Given the description of an element on the screen output the (x, y) to click on. 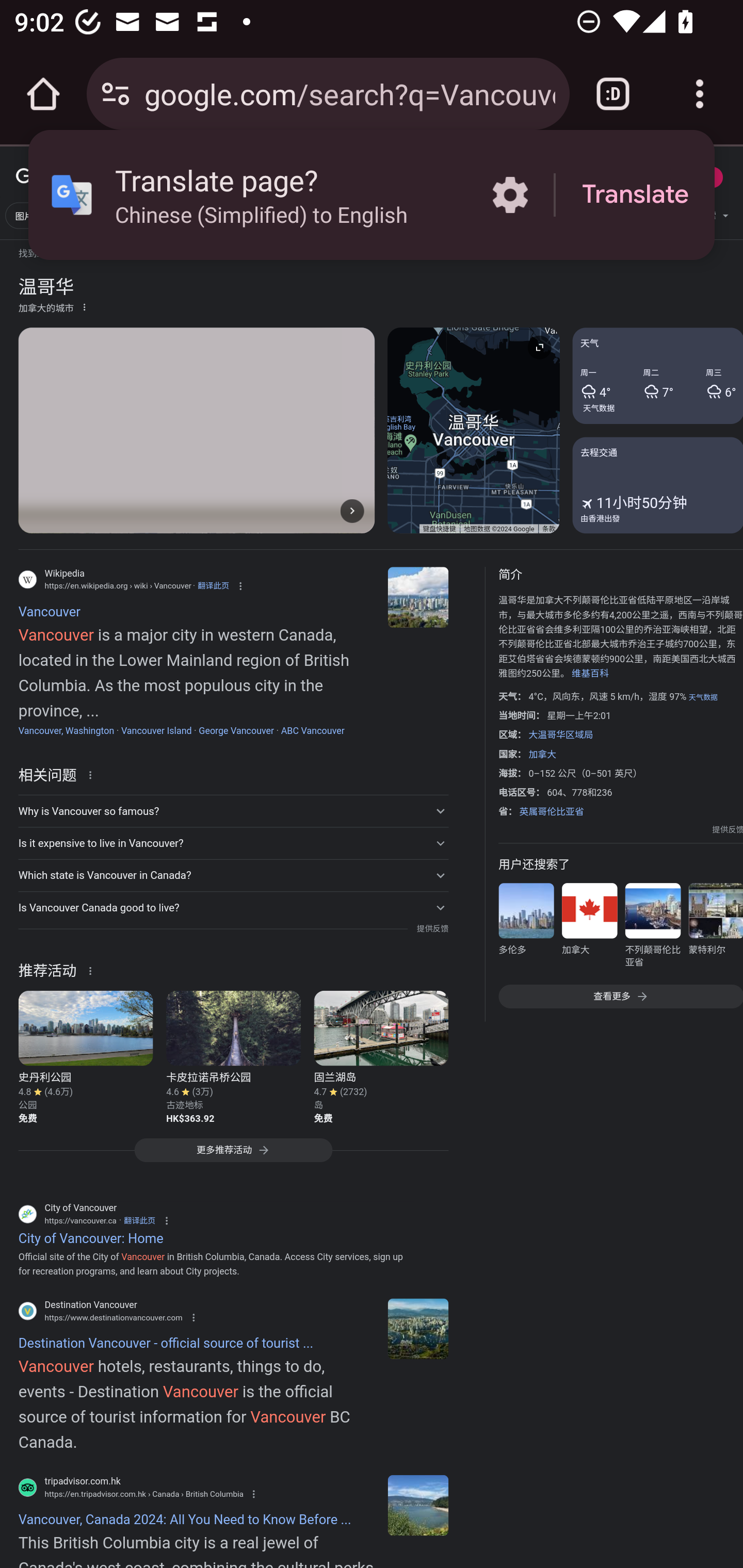
Open the home page (43, 93)
Connection is secure (115, 93)
Switch or close tabs (612, 93)
Customize and control Google Chrome (699, 93)
Translate (634, 195)
More options in the Translate page? (509, 195)
更多选项 (84, 306)
天气 周一 高温 4 度 周二 高温 7 度 周三 高温 6 度 (657, 375)
展开地图 (539, 346)
天气数据 (599, 407)
去程交通 11小时50分钟 乘坐飞机 由香港出發 (657, 484)
下一张图片 (352, 510)
Vancouver (417, 597)
翻译此页 (212, 585)
维基百科 (590, 672)
天气数据 (703, 697)
Vancouver, Washington (65, 730)
Vancouver Island (155, 730)
George Vancouver (236, 730)
ABC Vancouver (312, 730)
大温哥华区域局 (560, 734)
加拿大 (541, 753)
关于这条结果的详细信息 (93, 773)
Why is Vancouver so famous? (232, 810)
英属哥伦比亚省 (551, 810)
提供反馈 (727, 829)
Is it expensive to live in Vancouver? (232, 843)
Which state is Vancouver in Canada? (232, 875)
多伦多 (526, 927)
加拿大 (588, 927)
不列颠哥伦比亚省 (652, 927)
蒙特利尔 (715, 927)
Is Vancouver Canada good to live? (232, 906)
提供反馈 (432, 927)
关于这条结果的详细信息 (93, 969)
查看更多 查看更多 查看更多 (620, 996)
更多推荐活动 (232, 1155)
翻译此页 (139, 1220)
www.destinationvancouver (417, 1328)
